Given the description of an element on the screen output the (x, y) to click on. 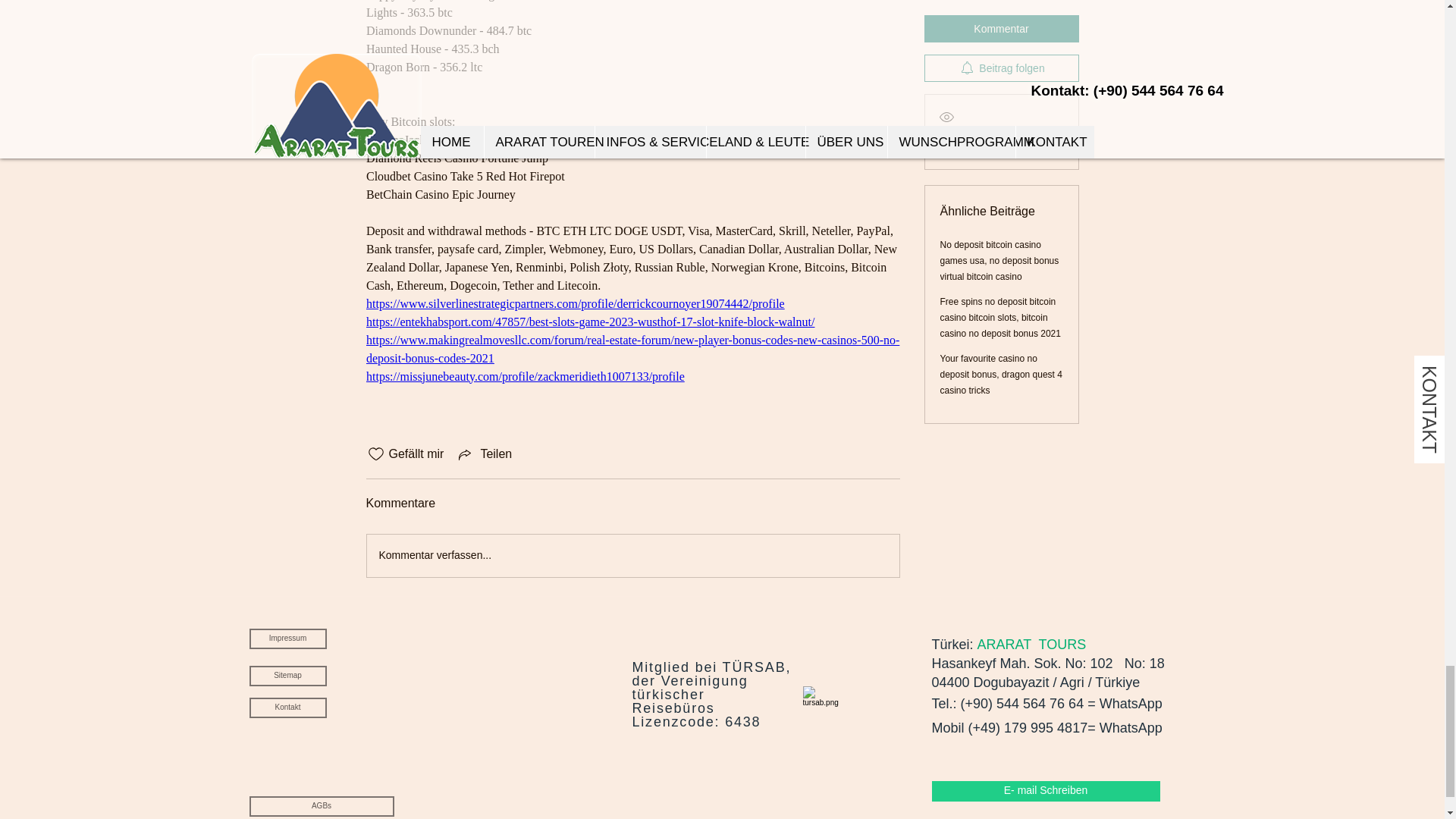
Teilen (483, 454)
Kommentar verfassen... (632, 555)
